Given the description of an element on the screen output the (x, y) to click on. 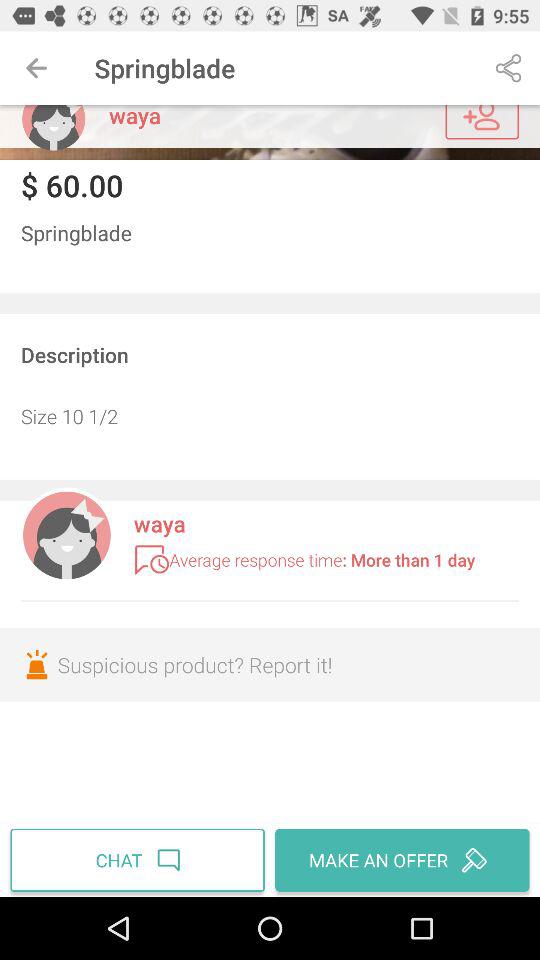
turn on the icon to the left of make an offer item (139, 860)
